Given the description of an element on the screen output the (x, y) to click on. 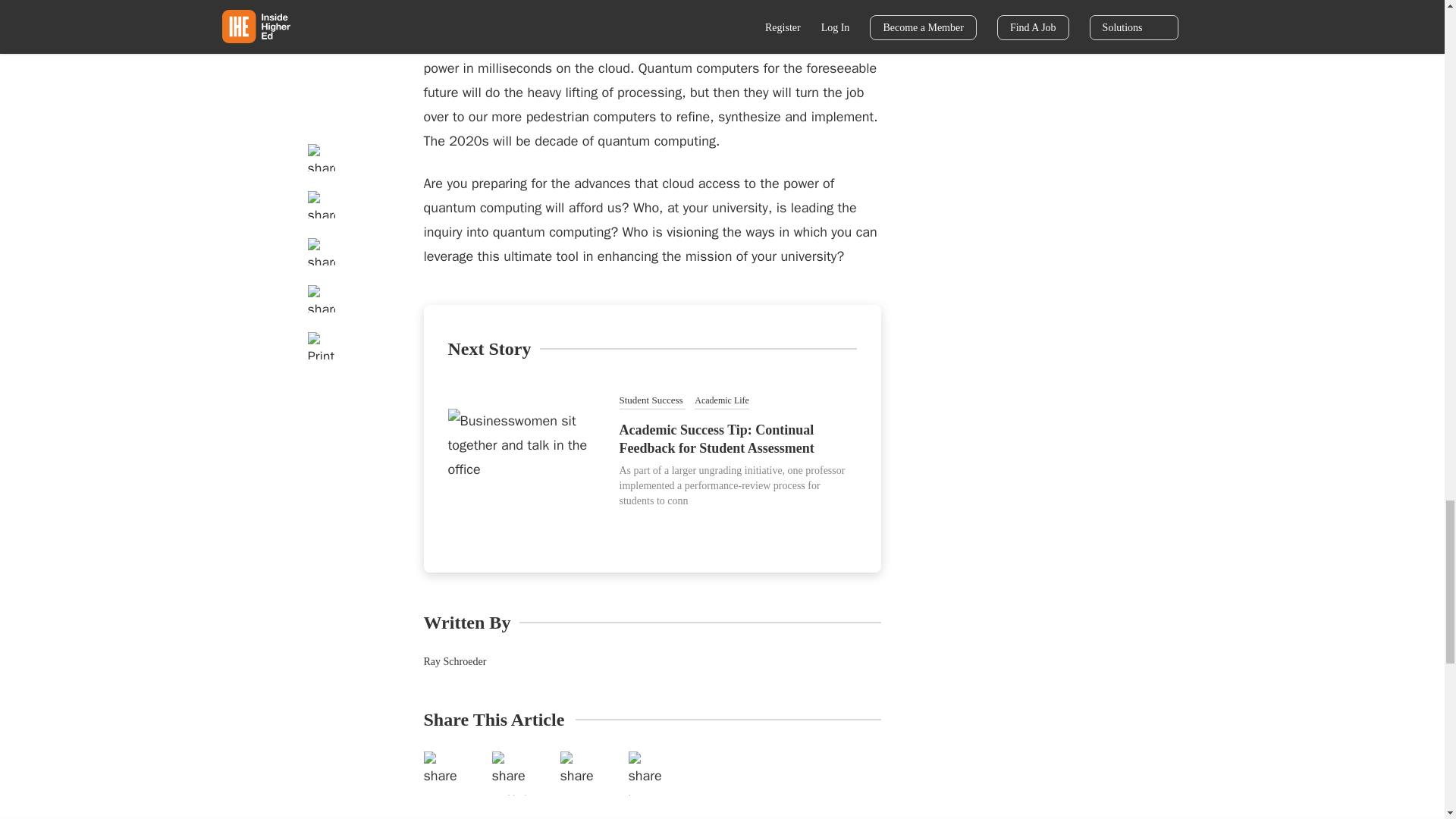
share to facebook (445, 773)
